Given the description of an element on the screen output the (x, y) to click on. 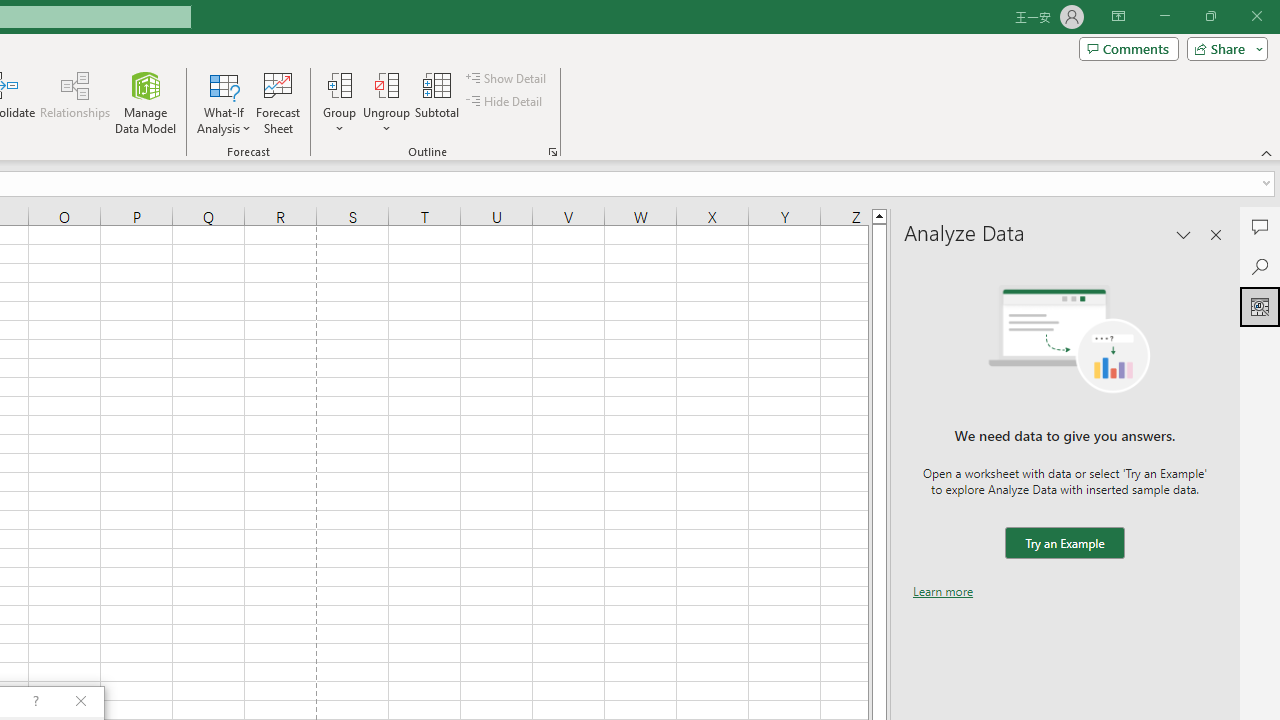
Learn more (943, 591)
